Given the description of an element on the screen output the (x, y) to click on. 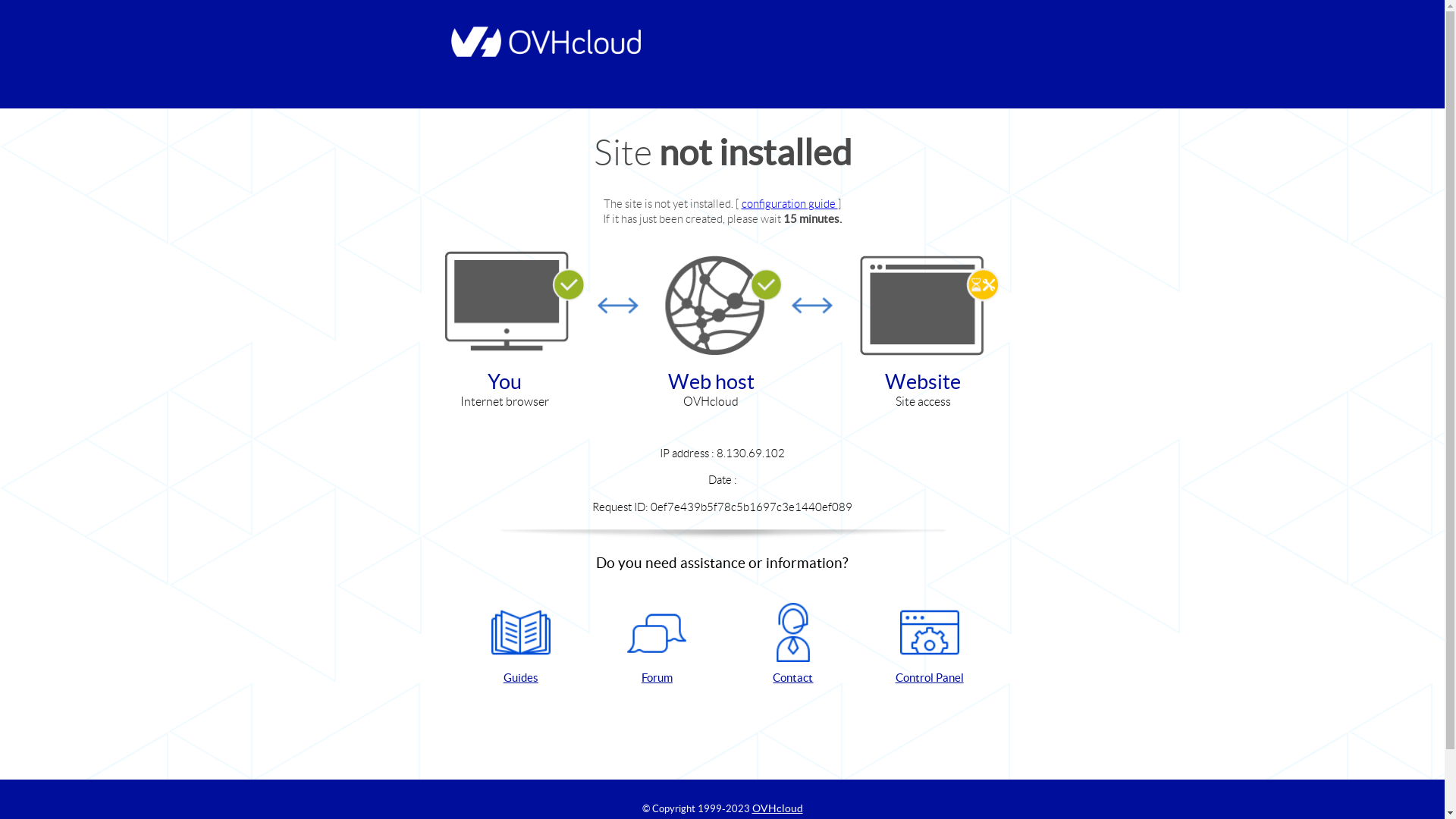
Contact Element type: text (792, 644)
Forum Element type: text (656, 644)
configuration guide Element type: text (789, 203)
Guides Element type: text (520, 644)
OVHcloud Element type: text (777, 808)
Control Panel Element type: text (929, 644)
